Given the description of an element on the screen output the (x, y) to click on. 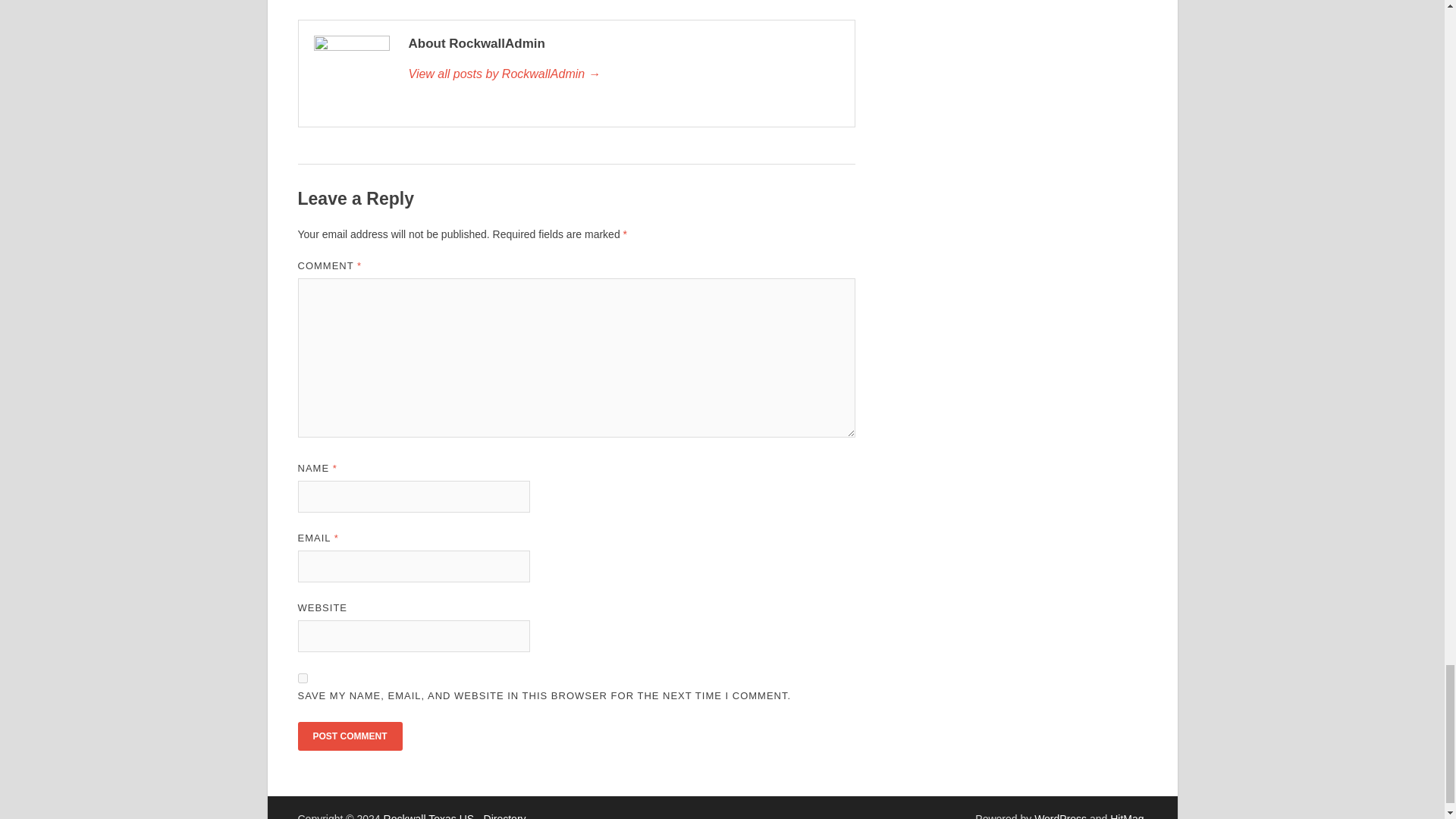
yes (302, 678)
Post Comment (349, 736)
RockwallAdmin (622, 74)
